Given the description of an element on the screen output the (x, y) to click on. 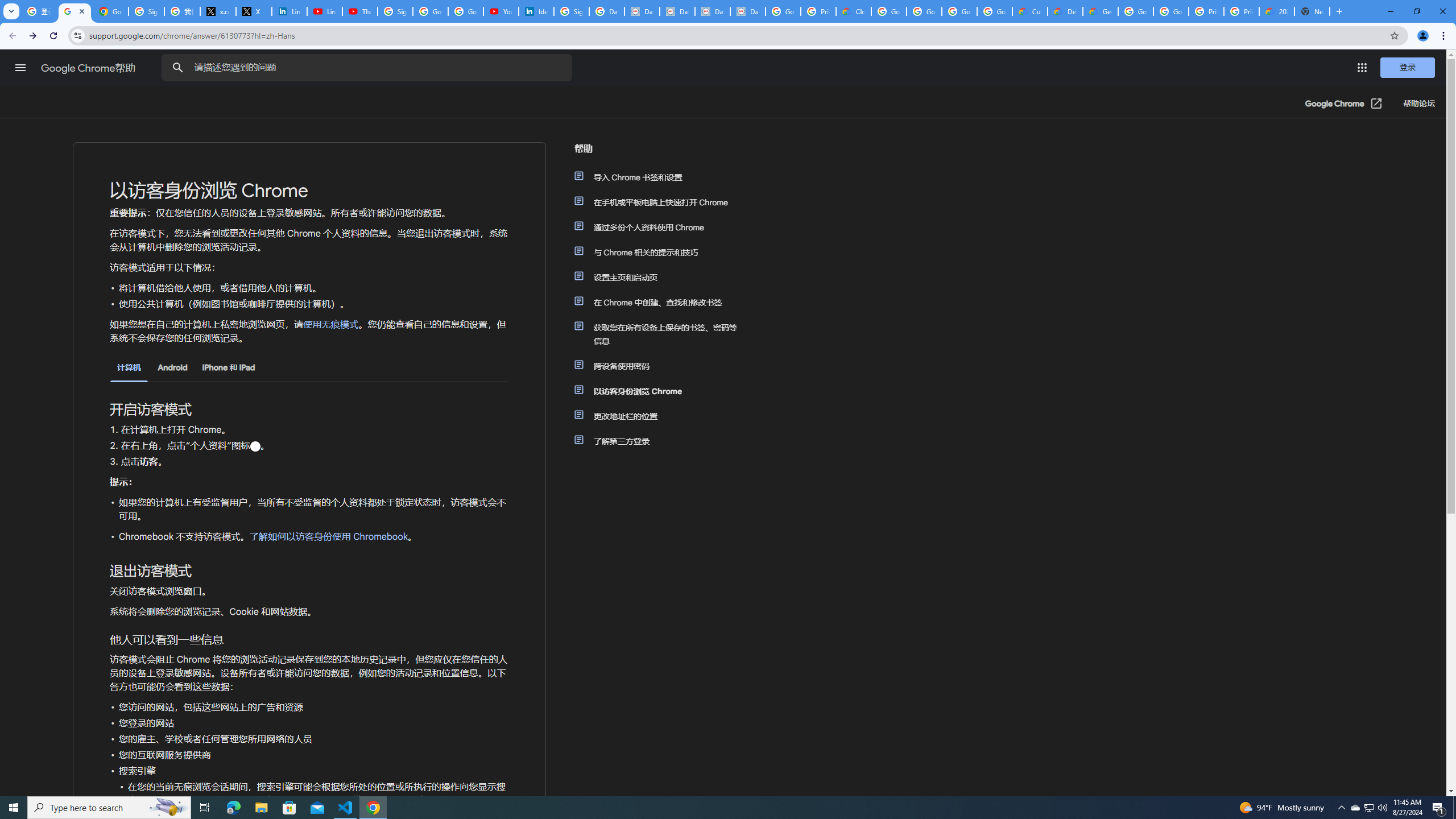
Google Workspace - Specific Terms (994, 11)
